Given the description of an element on the screen output the (x, y) to click on. 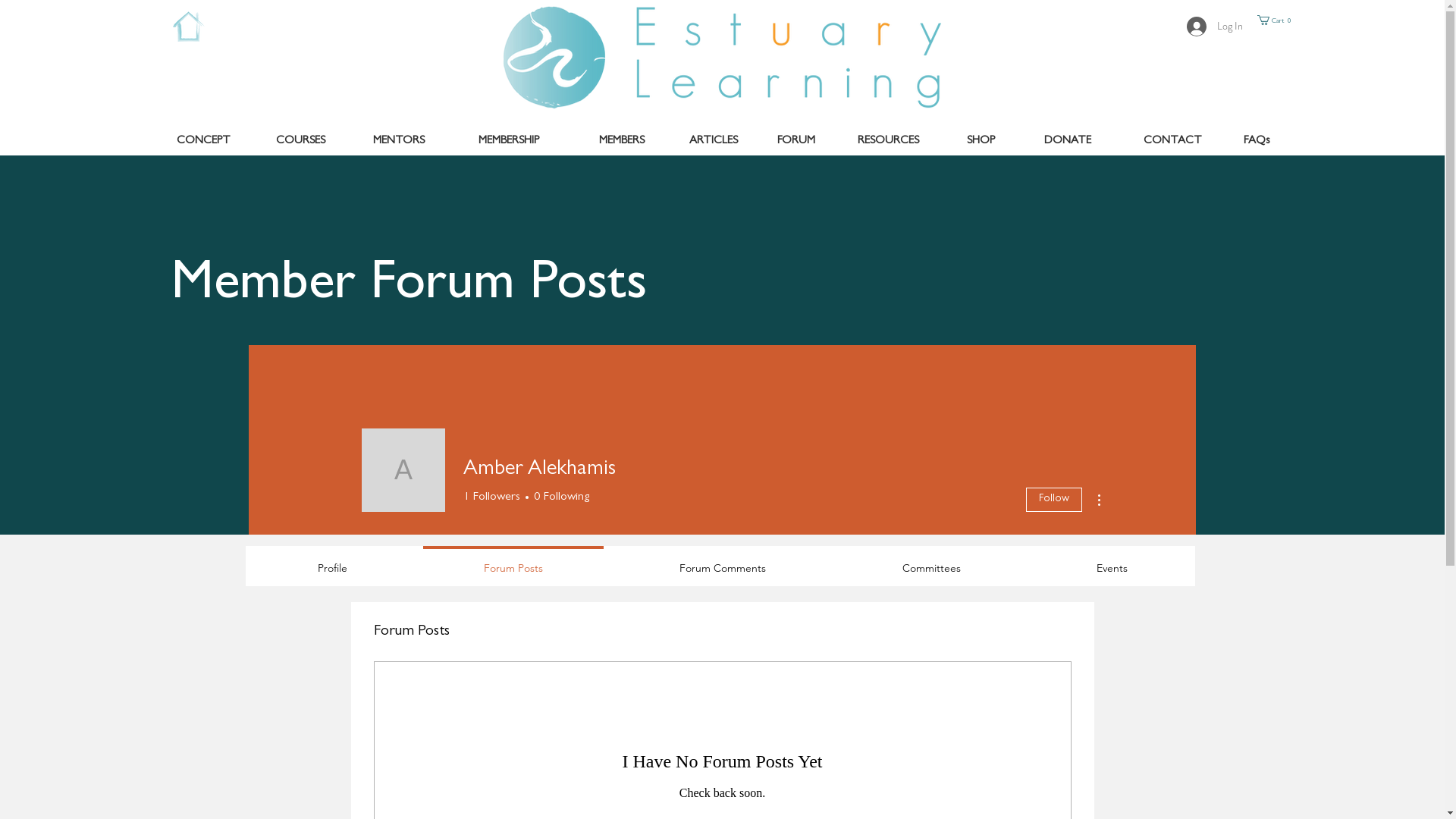
Profile Element type: text (331, 561)
FAQs Element type: text (1257, 140)
DONATE Element type: text (1067, 140)
CONCEPT Element type: text (203, 140)
Log In Element type: text (1213, 26)
Follow Element type: text (1054, 499)
Forum Comments Element type: text (722, 561)
RESOURCES Element type: text (888, 140)
Events Element type: text (1111, 561)
Cart
0 Element type: text (1276, 20)
COURSES Element type: text (299, 140)
Forum Posts Element type: text (513, 561)
0
Following Element type: text (558, 497)
MEMBERS Element type: text (621, 140)
1
Followers Element type: text (491, 497)
FORUM Element type: text (796, 140)
CONTACT Element type: text (1172, 140)
MEMBERSHIP Element type: text (508, 140)
MENTORS Element type: text (398, 140)
ARTICLES Element type: text (712, 140)
Committees Element type: text (931, 561)
SHOP Element type: text (981, 140)
Home Icon Element type: hover (188, 26)
